Given the description of an element on the screen output the (x, y) to click on. 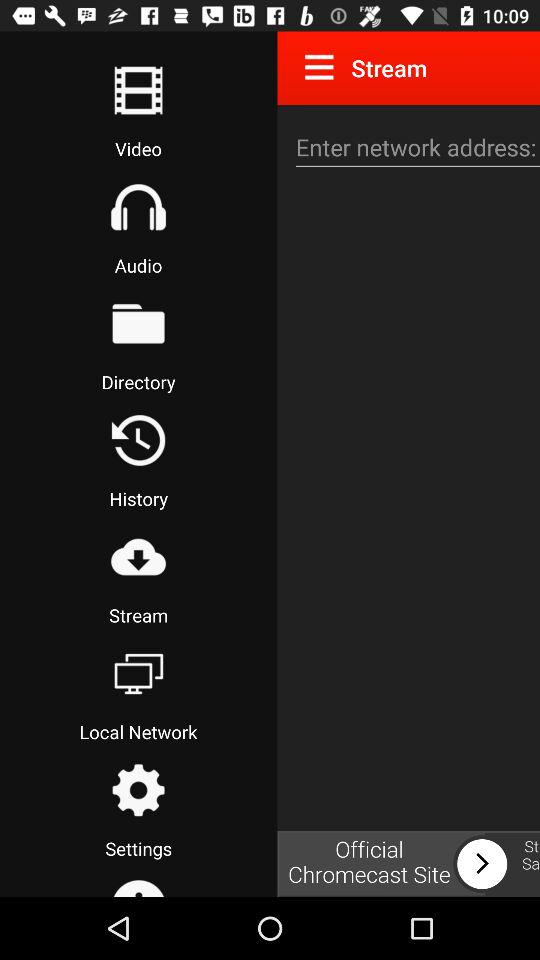
hide options (323, 67)
